Given the description of an element on the screen output the (x, y) to click on. 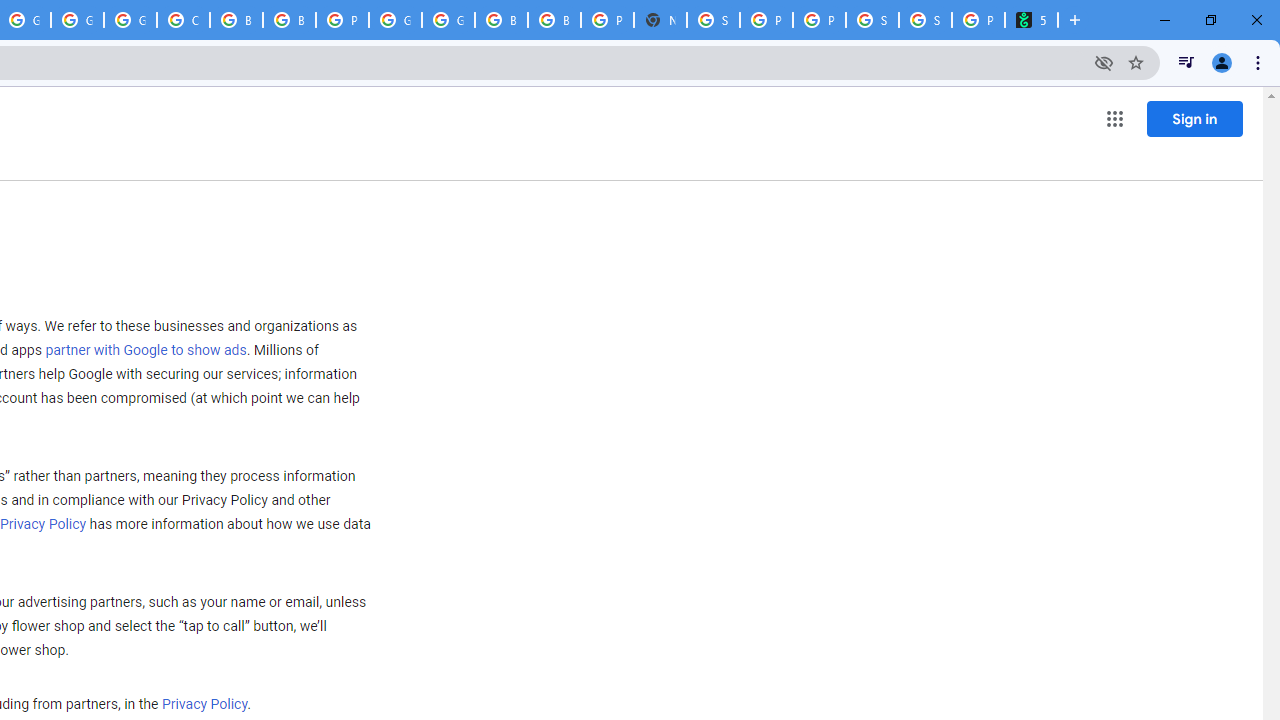
Google Cloud Platform (448, 20)
partner with Google to show ads (145, 351)
Browse Chrome as a guest - Computer - Google Chrome Help (501, 20)
